Given the description of an element on the screen output the (x, y) to click on. 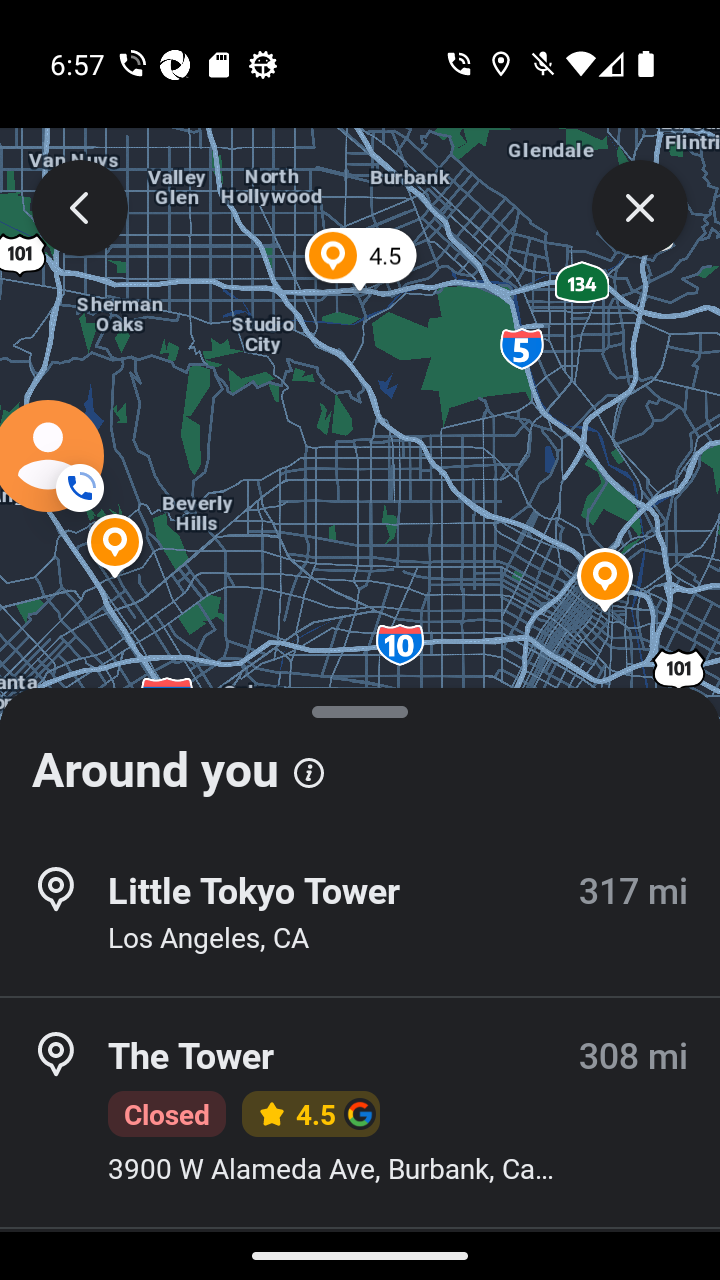
Work Set once and go (360, 1156)
